Given the description of an element on the screen output the (x, y) to click on. 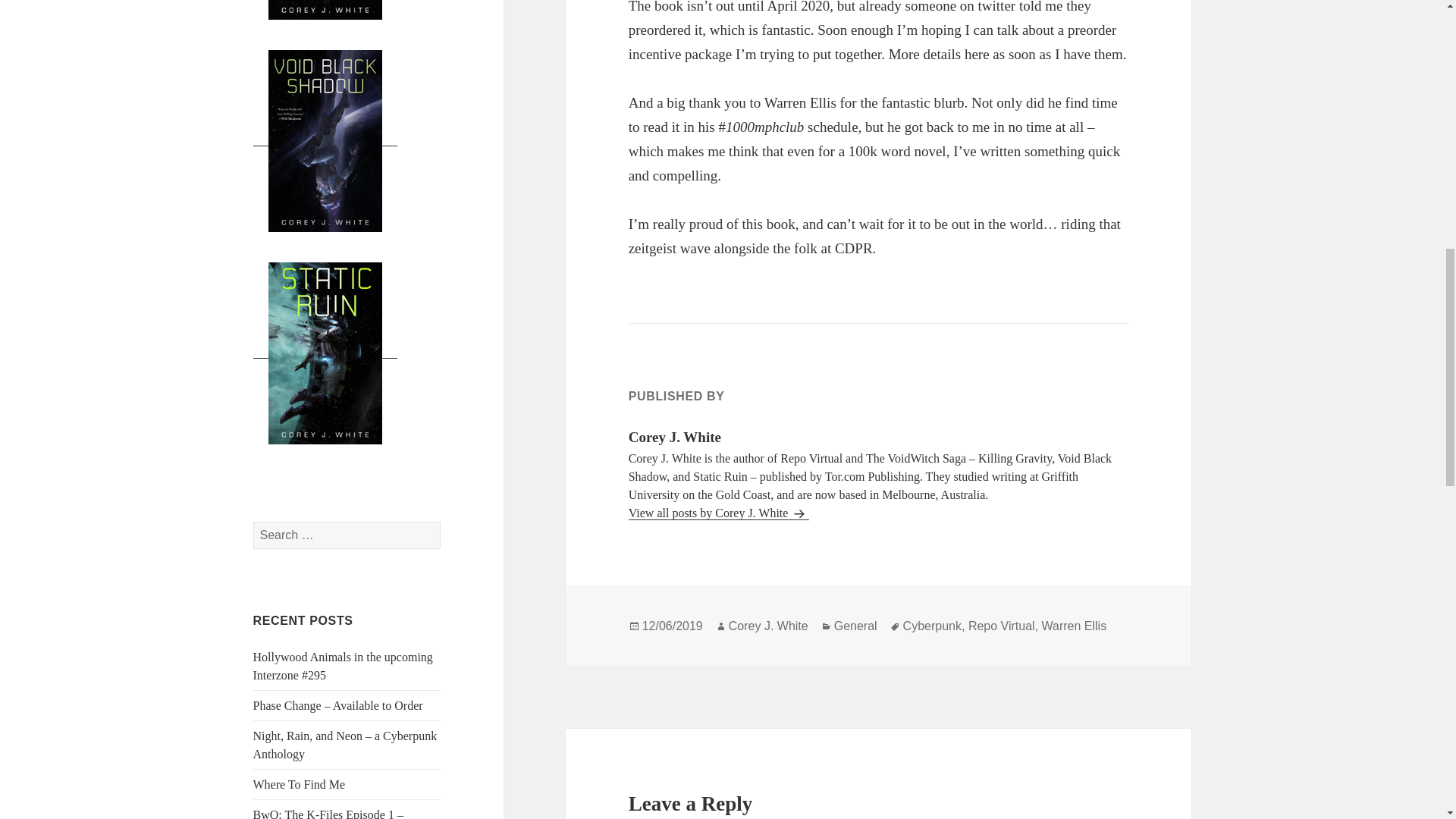
Warren Ellis (1074, 626)
Corey J. White (768, 626)
General (855, 626)
Repo Virtual (1001, 626)
Cyberpunk (931, 626)
View all posts by Corey J. White (718, 513)
Where To Find Me (299, 784)
